Given the description of an element on the screen output the (x, y) to click on. 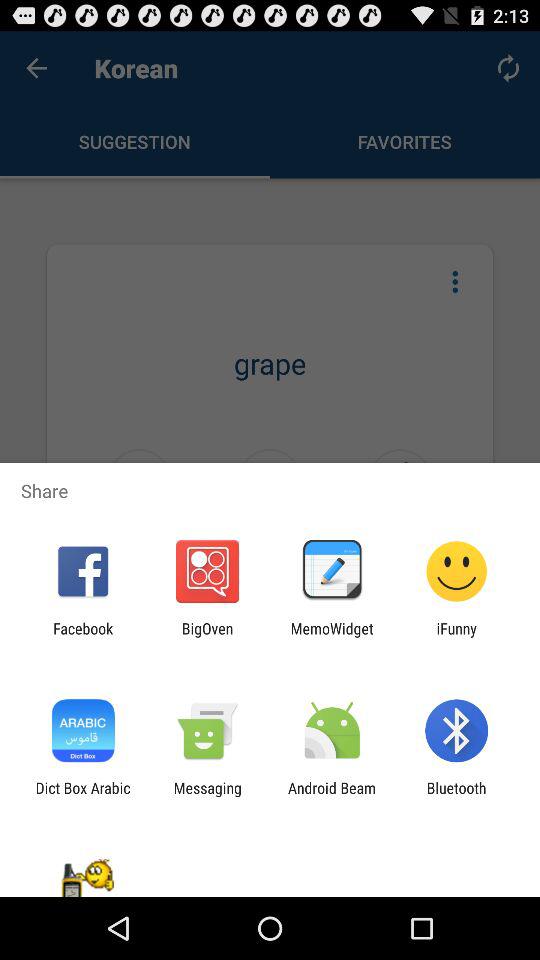
turn off icon to the left of memowidget (207, 637)
